Given the description of an element on the screen output the (x, y) to click on. 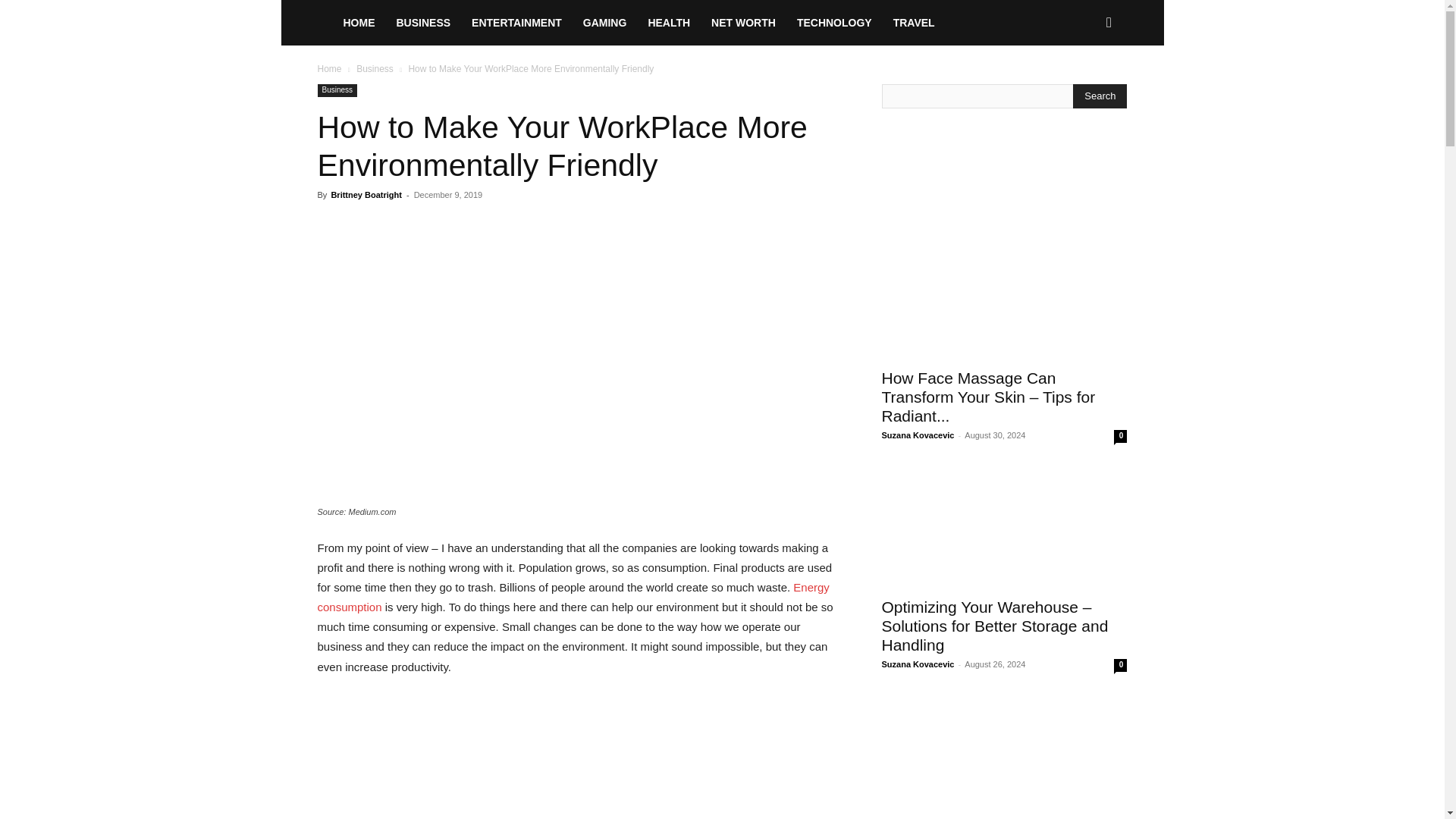
BUSINESS (423, 22)
Home (328, 68)
Energy consumption (572, 596)
Brittney Boatright (365, 194)
TECHNOLOGY (834, 22)
NET WORTH (743, 22)
Search (1085, 87)
Search (1099, 96)
HOME (358, 22)
HEALTH (668, 22)
